Given the description of an element on the screen output the (x, y) to click on. 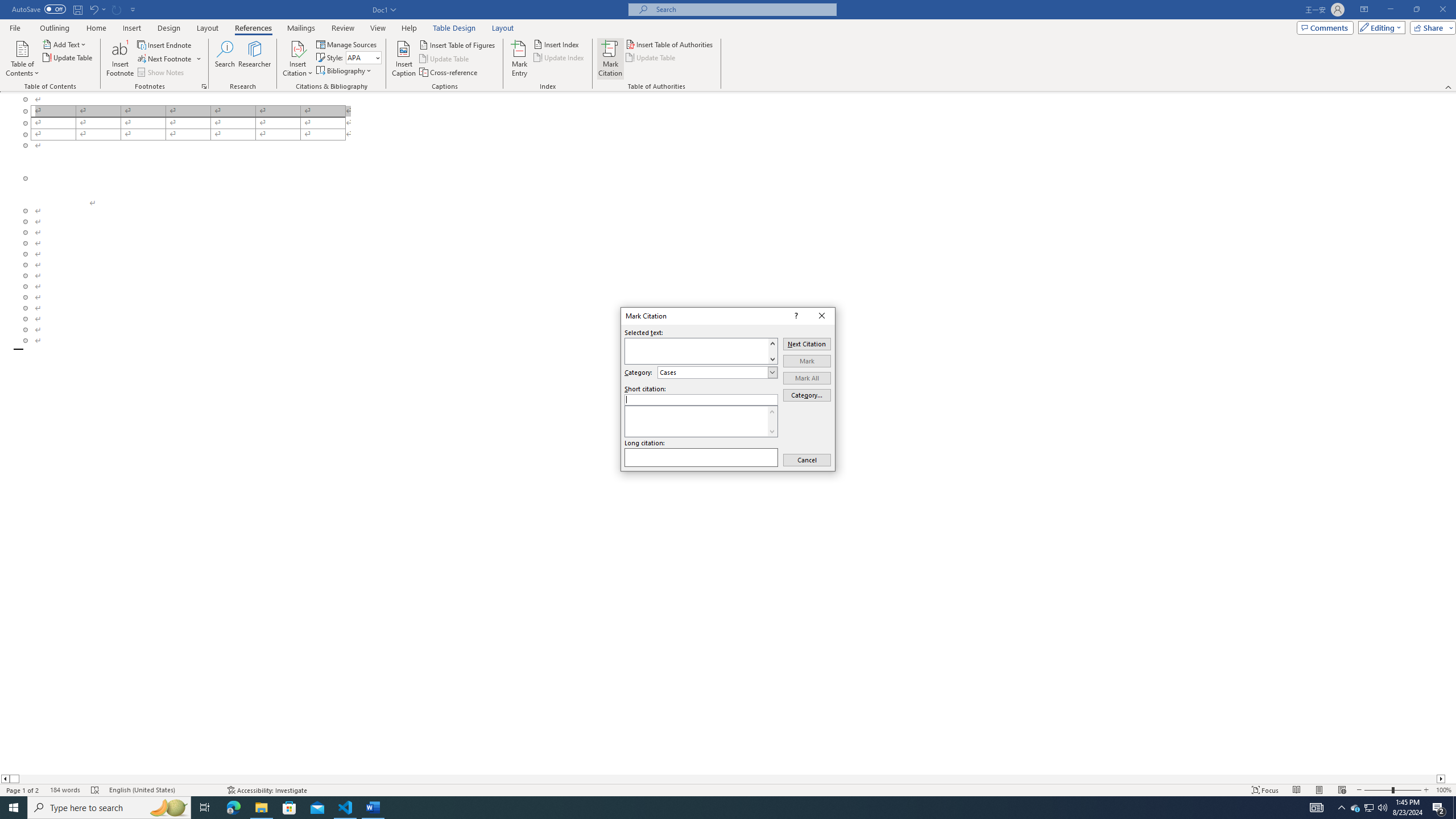
Next Footnote (169, 58)
Cancel (807, 459)
Insert Table of Authorities... (670, 44)
Show Notes (161, 72)
Zoom 100% (1443, 790)
Update Table... (68, 56)
Column left (5, 778)
